Given the description of an element on the screen output the (x, y) to click on. 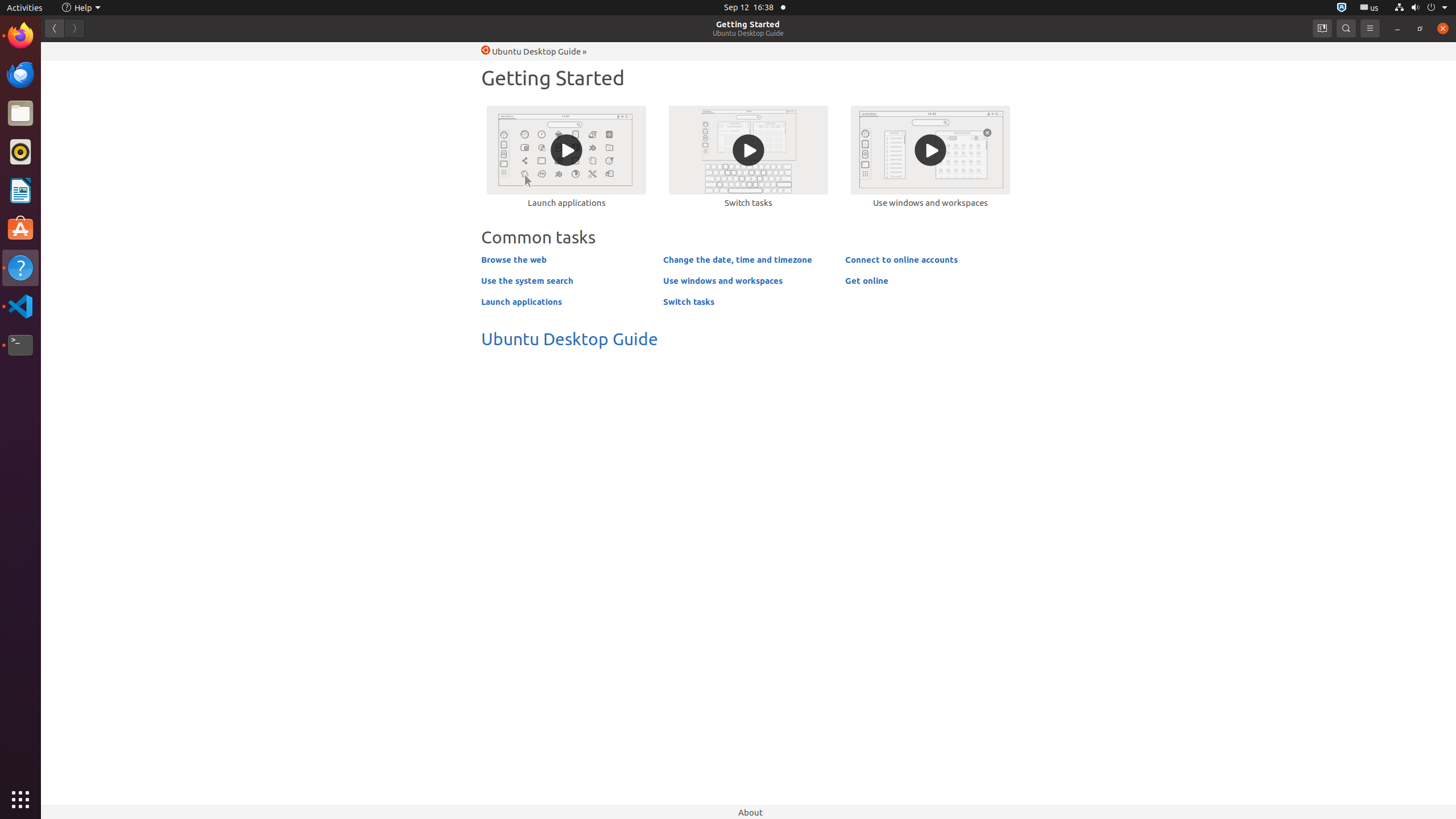
li.txt Element type: label (146, 50)
Launch applications Element type: link (566, 156)
Help Ubuntu Desktop Guide Element type: link (530, 50)
